Given the description of an element on the screen output the (x, y) to click on. 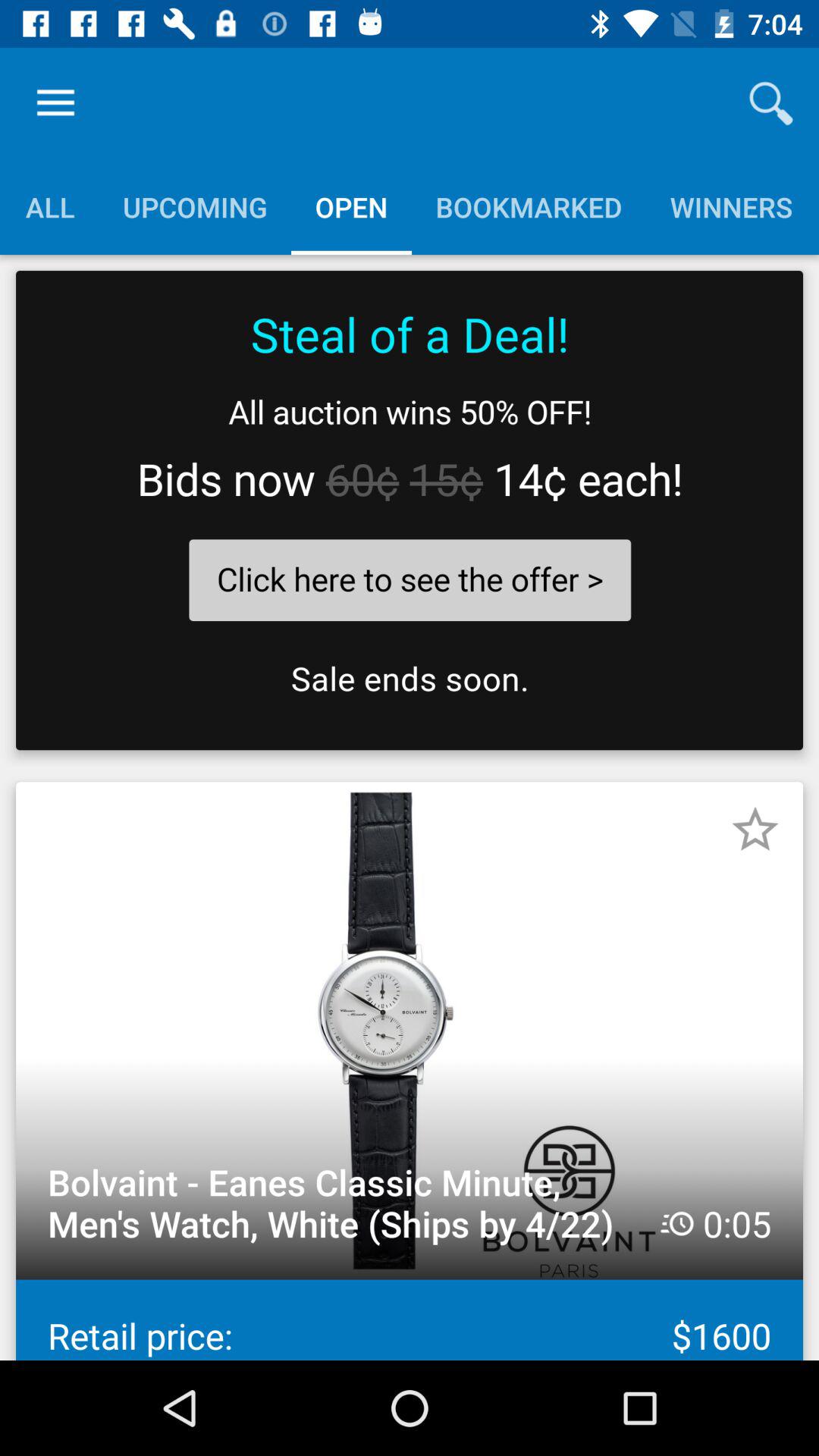
open offer (409, 510)
